Given the description of an element on the screen output the (x, y) to click on. 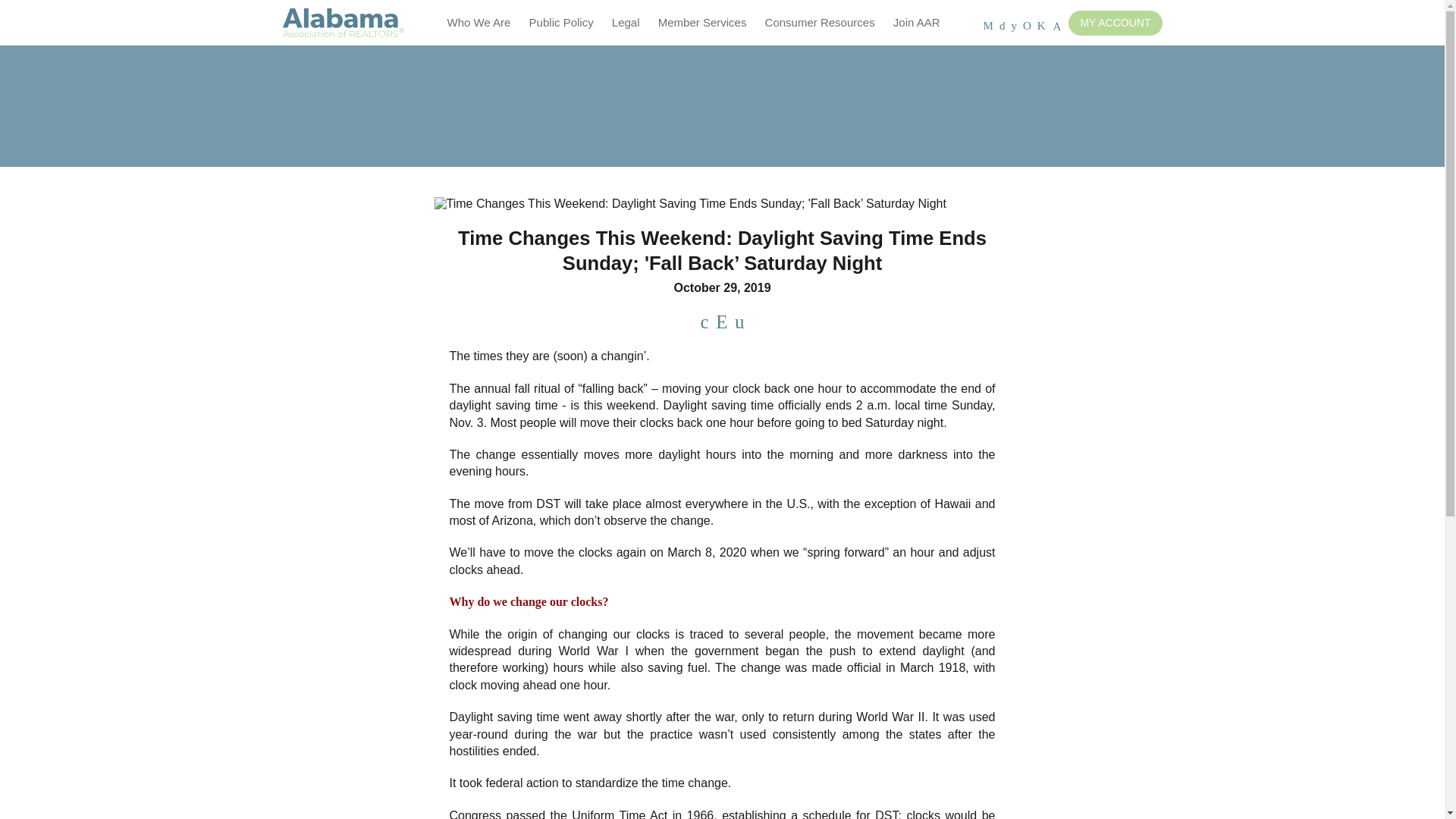
Who We Are (478, 22)
Legal (625, 22)
MY ACCOUNT (1114, 23)
Consumer Resources (819, 22)
Alabama Association of REALTORS (342, 22)
Public Policy (561, 22)
Public Policy (561, 22)
Member Services (702, 22)
Who We Are (478, 22)
Consumer Resources (819, 22)
